Given the description of an element on the screen output the (x, y) to click on. 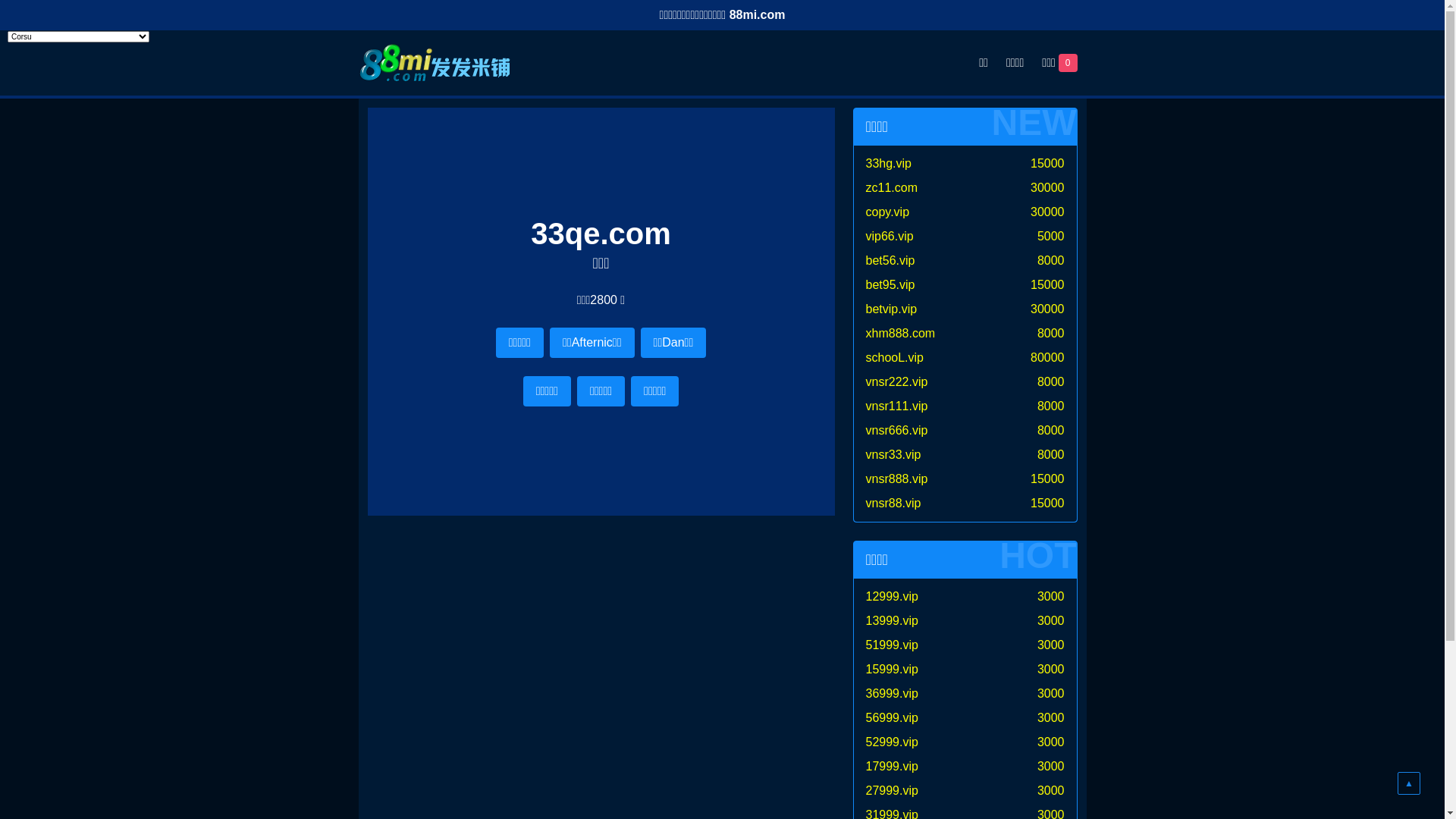
15000 Element type: text (1047, 478)
vnsr222.vip Element type: text (897, 381)
vnsr88.vip Element type: text (893, 502)
copy.vip Element type: text (888, 211)
zc11.com Element type: text (891, 187)
8000 Element type: text (1050, 405)
8000 Element type: text (1050, 260)
36999.vip Element type: text (892, 693)
betvip.vip Element type: text (891, 308)
8000 Element type: text (1050, 429)
3000 Element type: text (1050, 717)
vnsr666.vip Element type: text (897, 429)
15999.vip Element type: text (892, 668)
52999.vip Element type: text (892, 741)
30000 Element type: text (1047, 187)
30000 Element type: text (1047, 211)
3000 Element type: text (1050, 790)
51999.vip Element type: text (892, 644)
5000 Element type: text (1050, 235)
15000 Element type: text (1047, 284)
80000 Element type: text (1047, 357)
3000 Element type: text (1050, 644)
vnsr33.vip Element type: text (893, 454)
3000 Element type: text (1050, 620)
56999.vip Element type: text (892, 717)
3000 Element type: text (1050, 693)
bet56.vip Element type: text (890, 260)
xhm888.com Element type: text (900, 332)
8000 Element type: text (1050, 332)
vnsr888.vip Element type: text (897, 478)
13999.vip Element type: text (892, 620)
8000 Element type: text (1050, 381)
3000 Element type: text (1050, 595)
12999.vip Element type: text (892, 595)
3000 Element type: text (1050, 765)
33hg.vip Element type: text (889, 162)
27999.vip Element type: text (892, 790)
vip66.vip Element type: text (889, 235)
17999.vip Element type: text (892, 765)
schooL.vip Element type: text (895, 357)
3000 Element type: text (1050, 668)
3000 Element type: text (1050, 741)
15000 Element type: text (1047, 502)
vnsr111.vip Element type: text (897, 405)
15000 Element type: text (1047, 162)
30000 Element type: text (1047, 308)
bet95.vip Element type: text (890, 284)
8000 Element type: text (1050, 454)
